Given the description of an element on the screen output the (x, y) to click on. 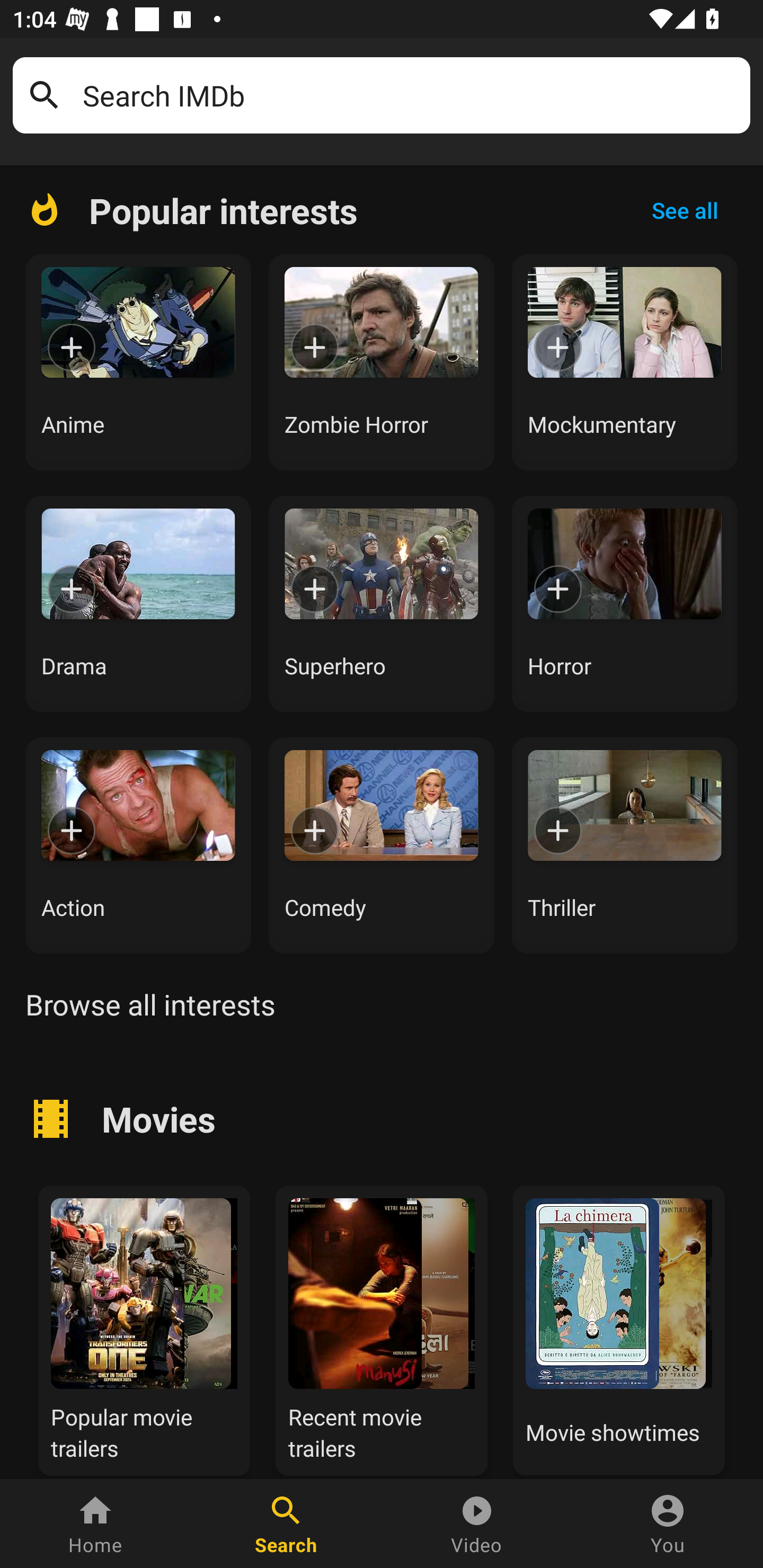
Search IMDb (410, 95)
See all (684, 209)
Anime (138, 361)
Zombie Horror (381, 361)
Mockumentary (624, 361)
Drama (138, 603)
Superhero (381, 603)
Horror (624, 603)
Action (138, 844)
Comedy (381, 844)
Thriller (624, 844)
Browse all interests (150, 1003)
Popular movie trailers (144, 1327)
Recent movie trailers (381, 1327)
Movie showtimes (618, 1327)
Home (95, 1523)
Video (476, 1523)
You (667, 1523)
